Given the description of an element on the screen output the (x, y) to click on. 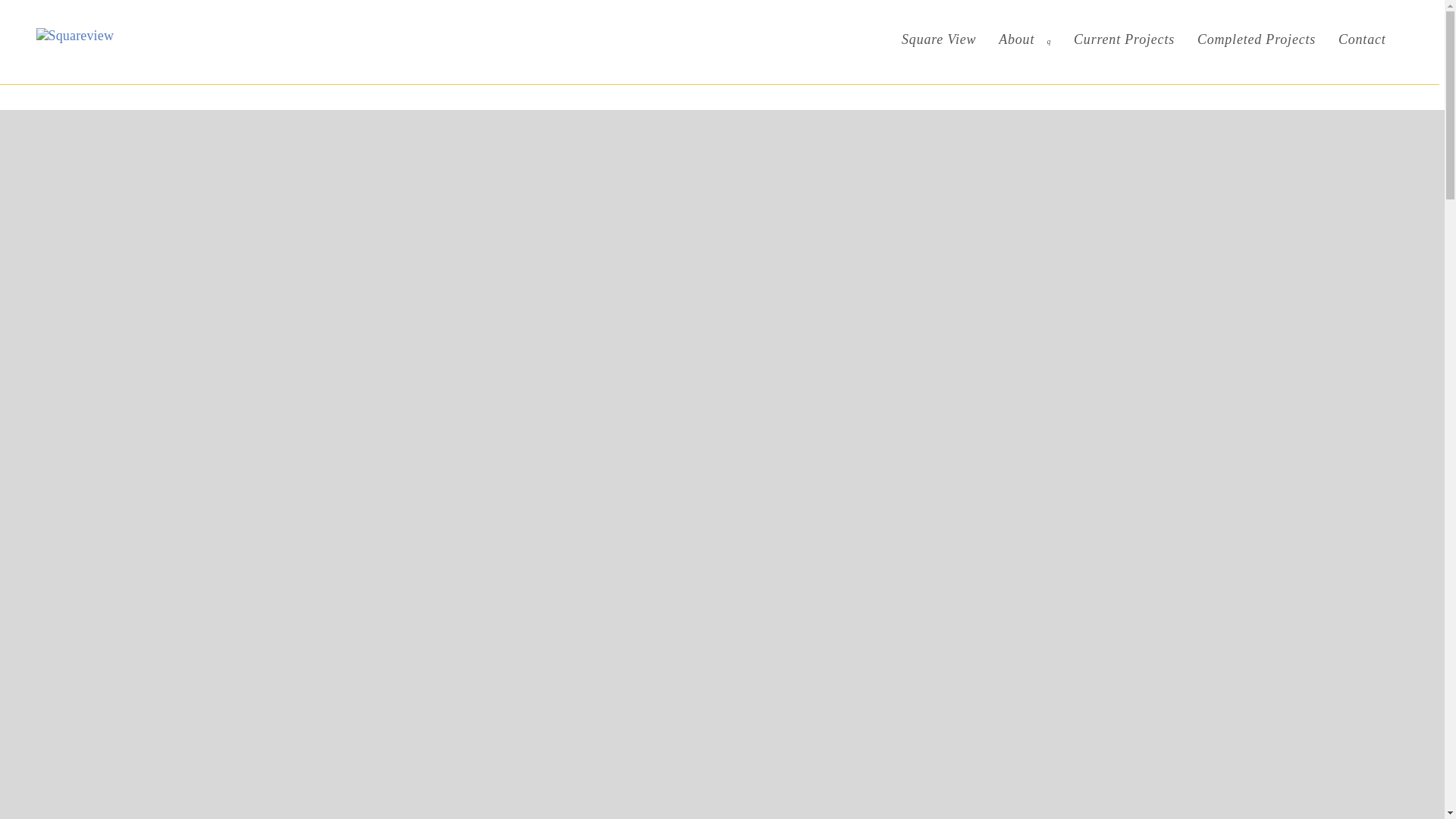
Square View (938, 39)
About (1024, 39)
Contact (1361, 39)
Current Projects (1124, 39)
Completed Projects (1256, 39)
